Given the description of an element on the screen output the (x, y) to click on. 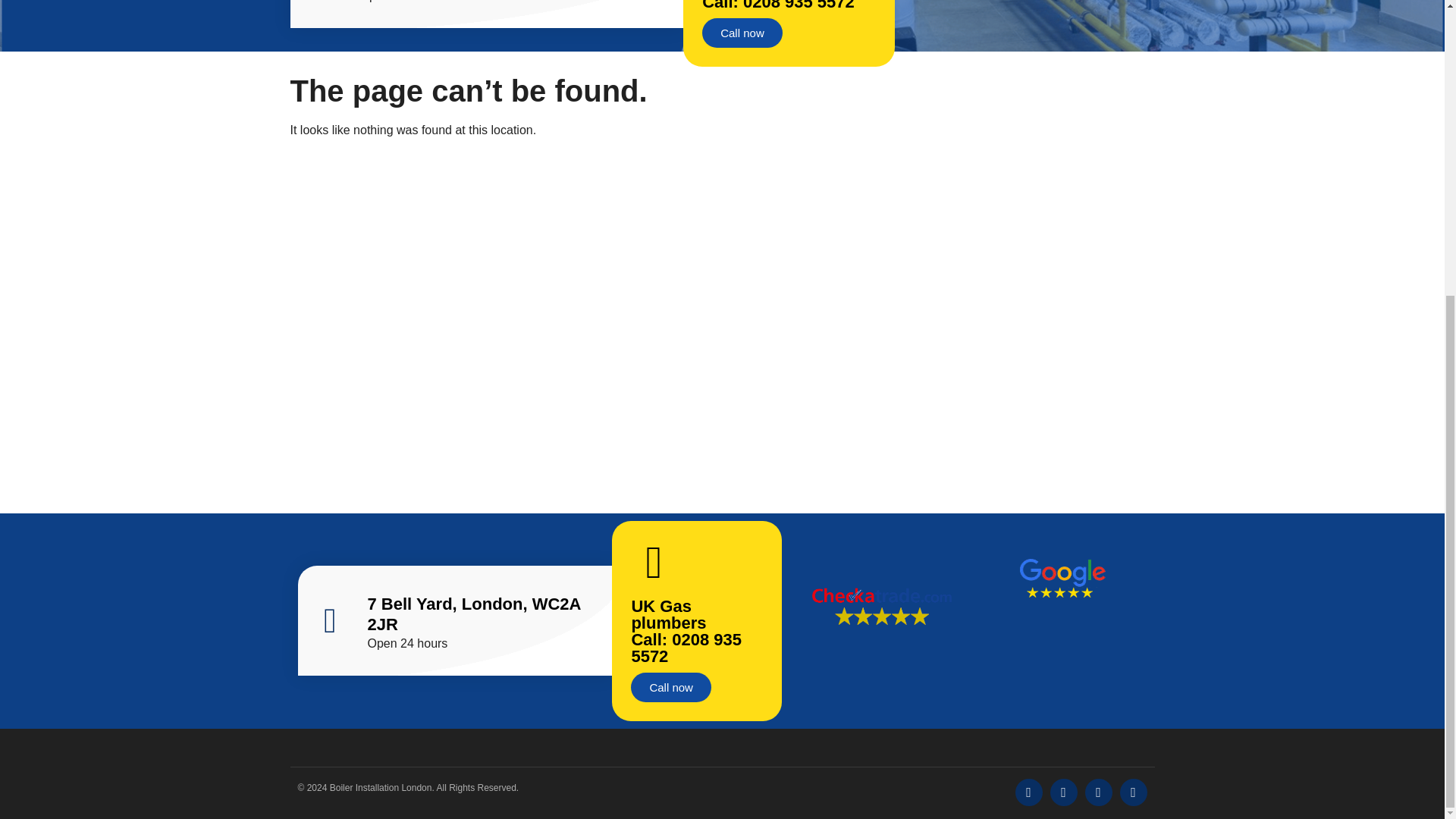
Call now (670, 686)
Call now (742, 32)
